Given the description of an element on the screen output the (x, y) to click on. 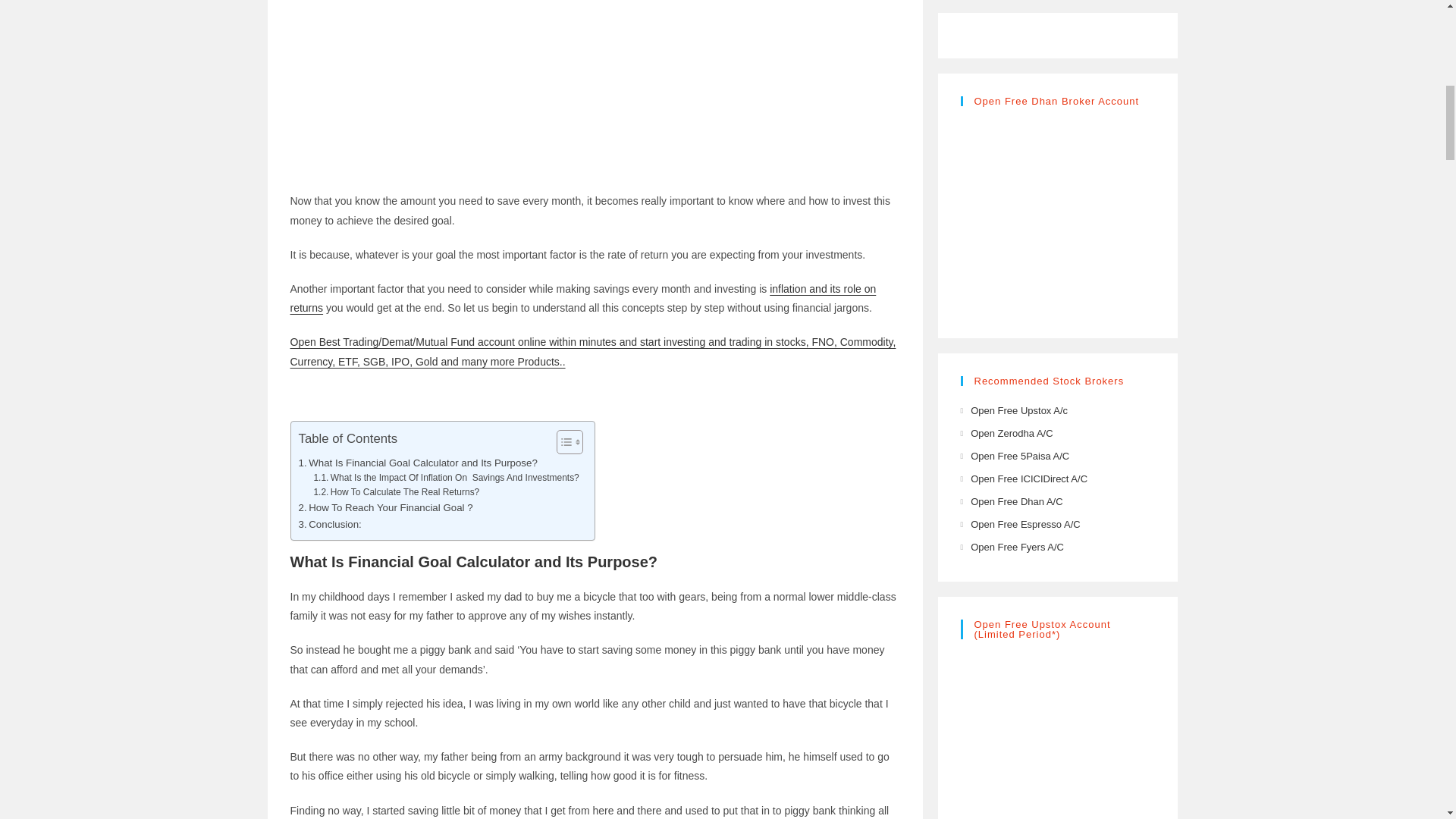
How To Reach Your Financial Goal ? (385, 507)
How To Calculate The Real Returns? (396, 492)
Conclusion: (329, 524)
